Given the description of an element on the screen output the (x, y) to click on. 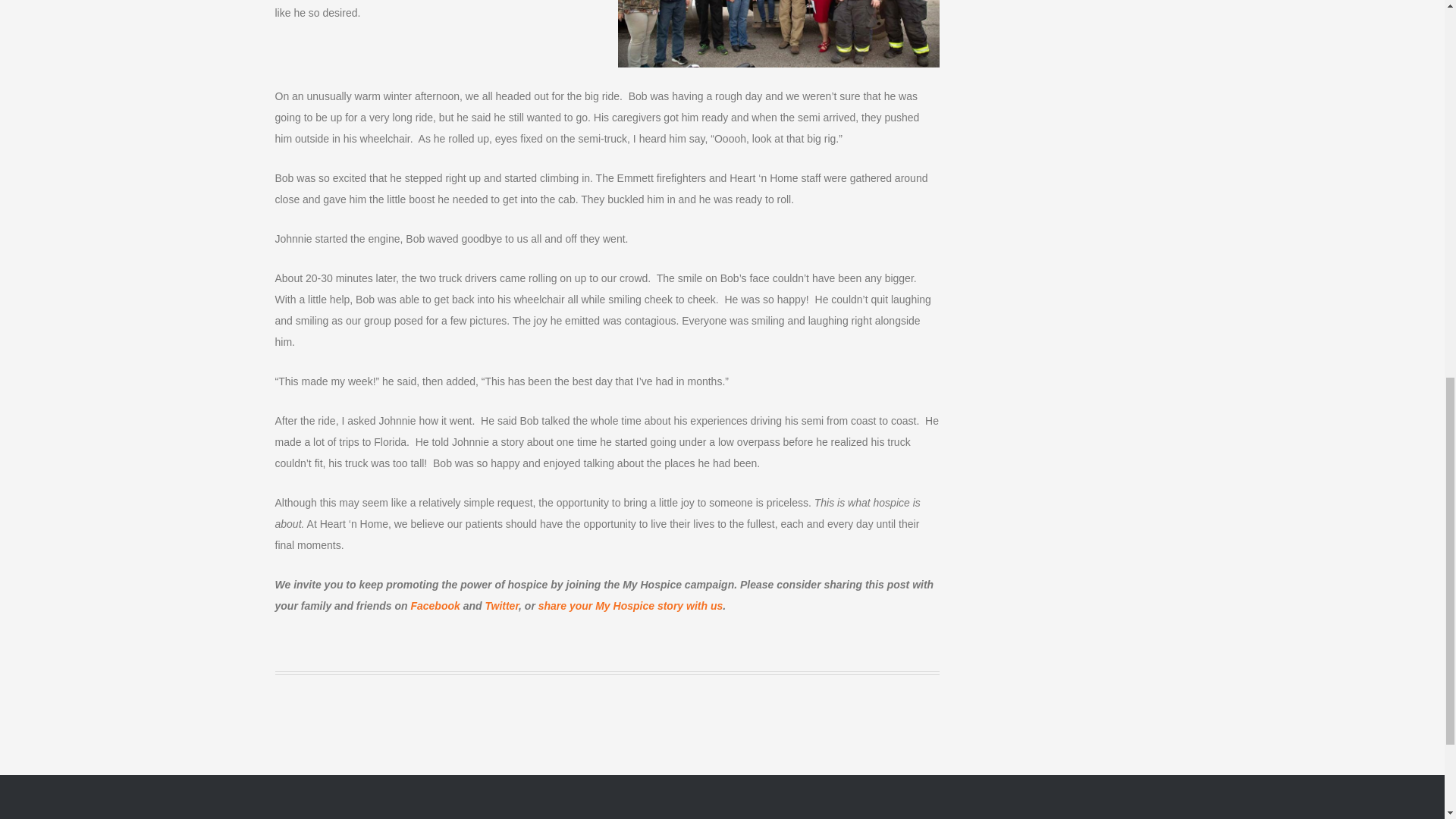
Facebook (435, 605)
